Given the description of an element on the screen output the (x, y) to click on. 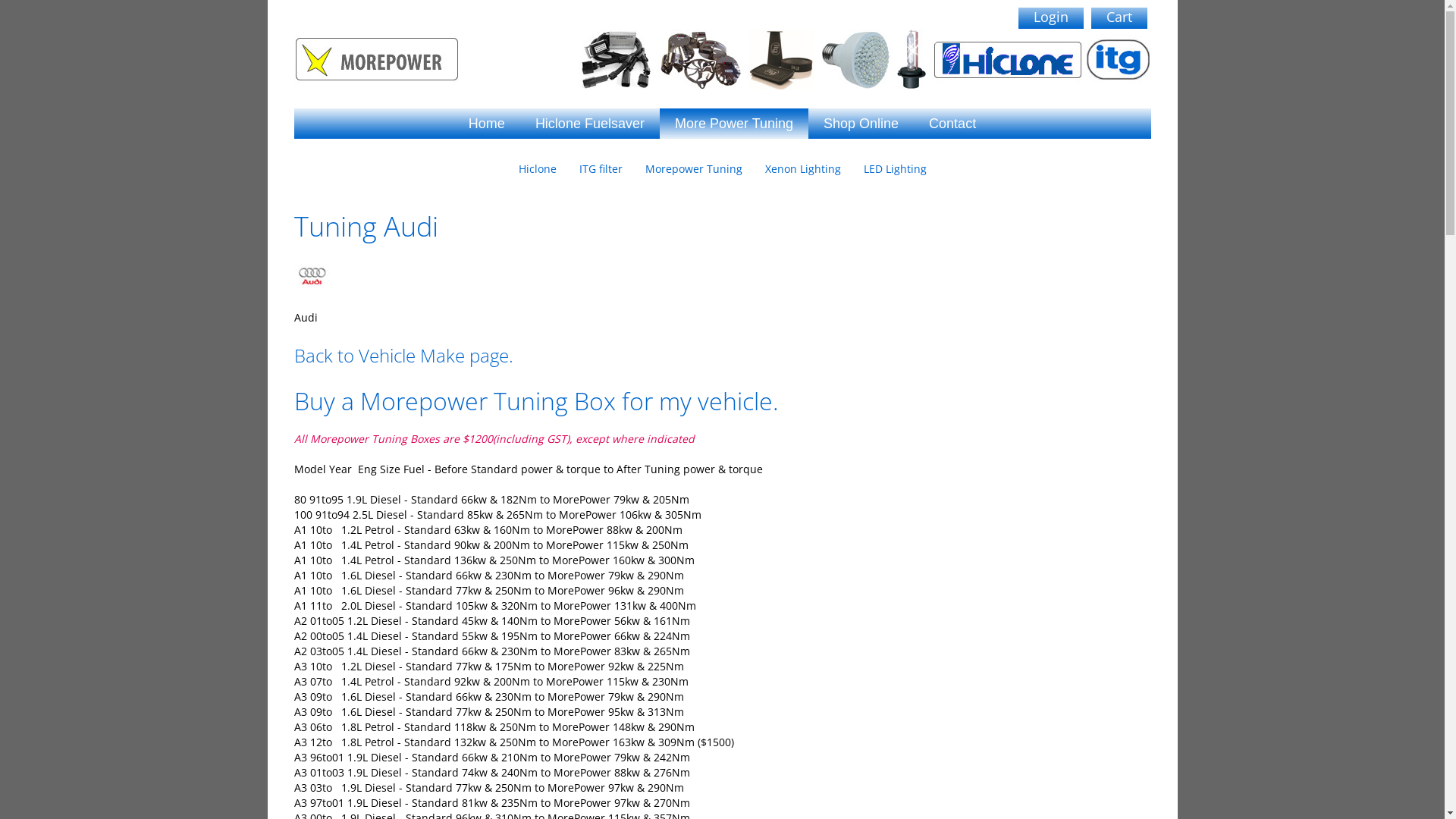
Cart Element type: text (1118, 17)
Buy a Morepower Tuning Box for my vehicle. Element type: text (536, 400)
Contact Element type: text (952, 123)
Hiclone Fuelsaver Element type: text (589, 123)
Login Element type: text (1049, 17)
Home Element type: text (486, 123)
ITG filter Element type: text (600, 168)
LED Lighting Element type: text (895, 168)
Hiclone Element type: text (536, 168)
Morepower Tuning Element type: text (693, 168)
Back to Vehicle Make page. Element type: text (403, 354)
Shop Online Element type: text (860, 123)
Xenon Lighting Element type: text (802, 168)
More Power Tuning Element type: text (733, 123)
